Given the description of an element on the screen output the (x, y) to click on. 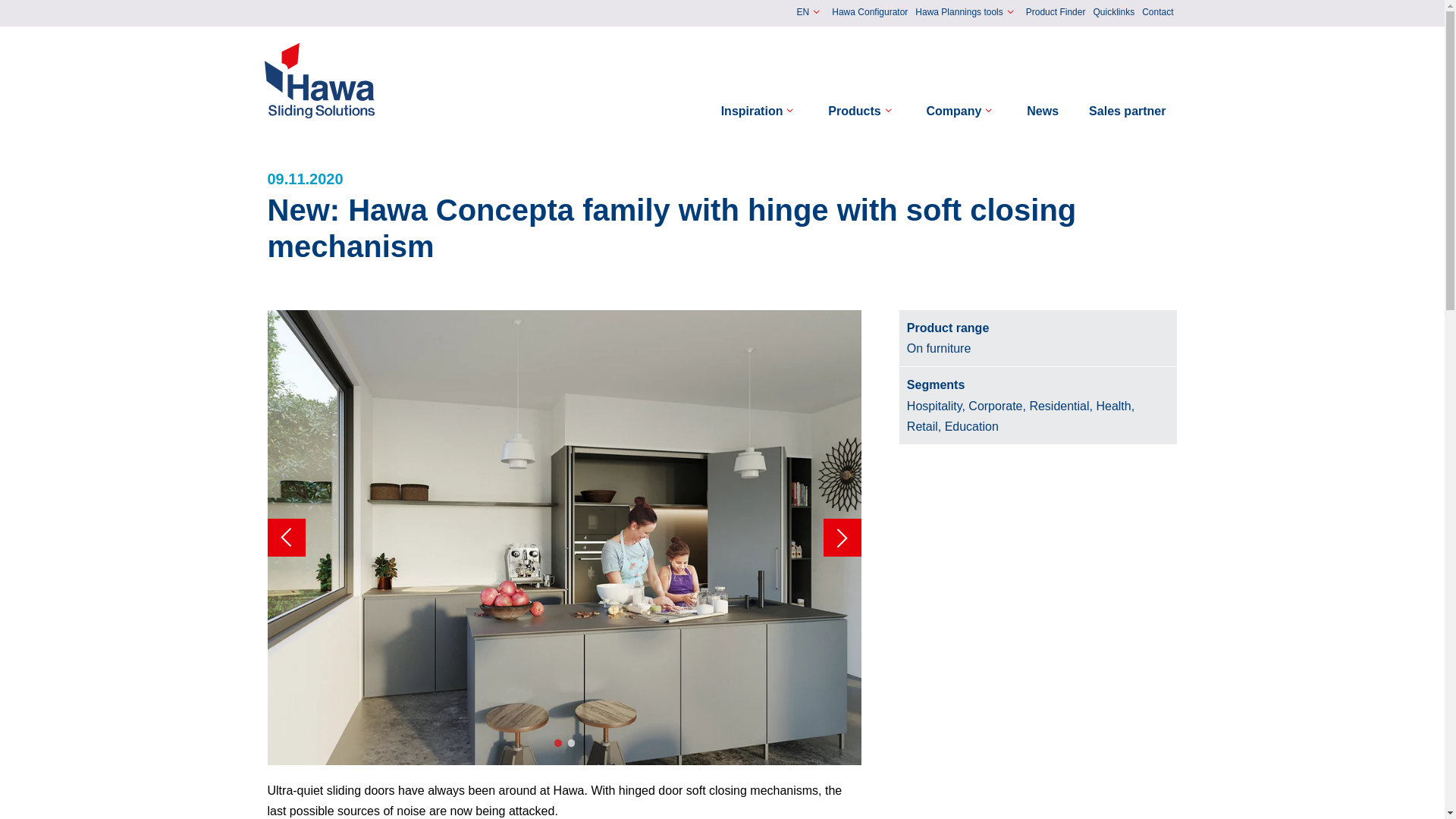
Contact (1157, 12)
Company (961, 111)
Inspiration (759, 111)
Hawa Configurator (869, 12)
Hawa Plannings tools (966, 12)
Quicklinks (1113, 12)
Product Finder (1056, 12)
Hawa (320, 80)
Products (861, 111)
EN (810, 12)
